Given the description of an element on the screen output the (x, y) to click on. 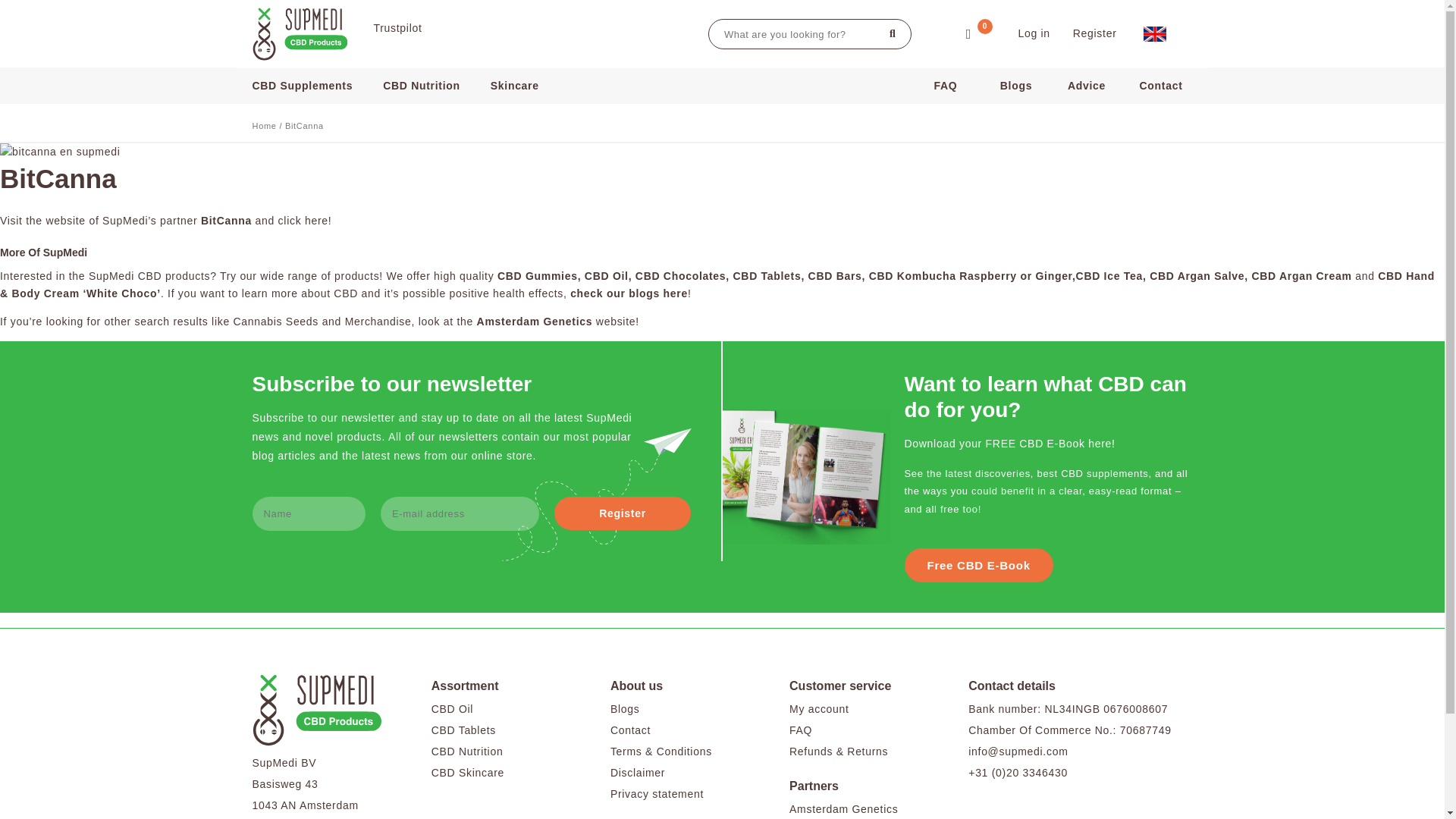
FAQ (944, 85)
Blogs (1016, 85)
Advice (1086, 85)
Trustpilot (397, 28)
SupMedi (300, 33)
Log in (1033, 33)
Register (622, 512)
Engels (1154, 33)
Register (1094, 33)
Skincare (522, 85)
CBD Supplements (313, 85)
CBD Nutrition (429, 85)
